Given the description of an element on the screen output the (x, y) to click on. 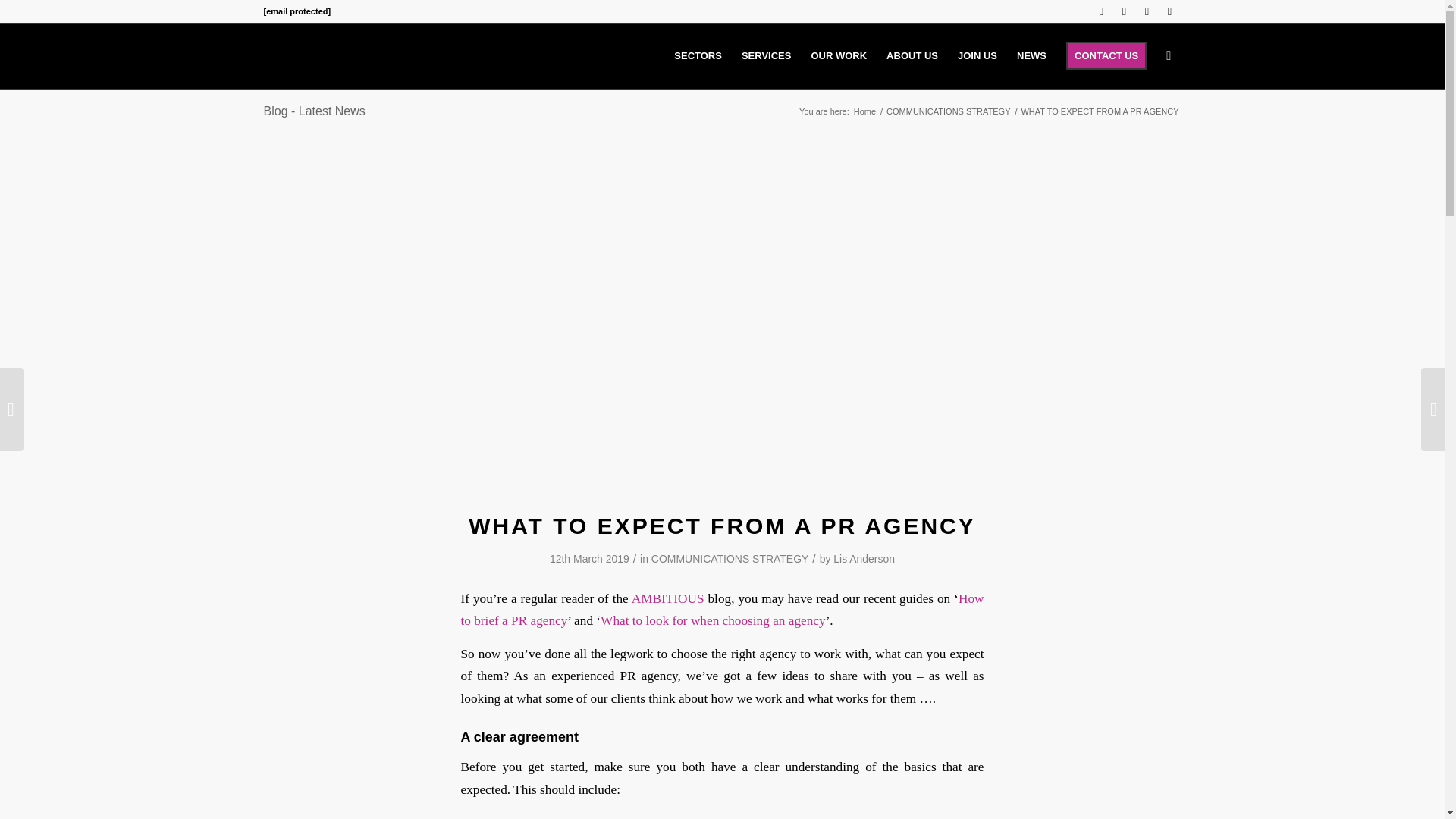
Ambitious PR (864, 111)
Home (864, 111)
Permanent Link: Blog - Latest News (314, 110)
Posts by Lis Anderson (863, 558)
OUR WORK (838, 55)
Blog - Latest News (314, 110)
SERVICES (767, 55)
ABOUT US (911, 55)
Facebook (1146, 11)
CONTACT US (1106, 55)
